Given the description of an element on the screen output the (x, y) to click on. 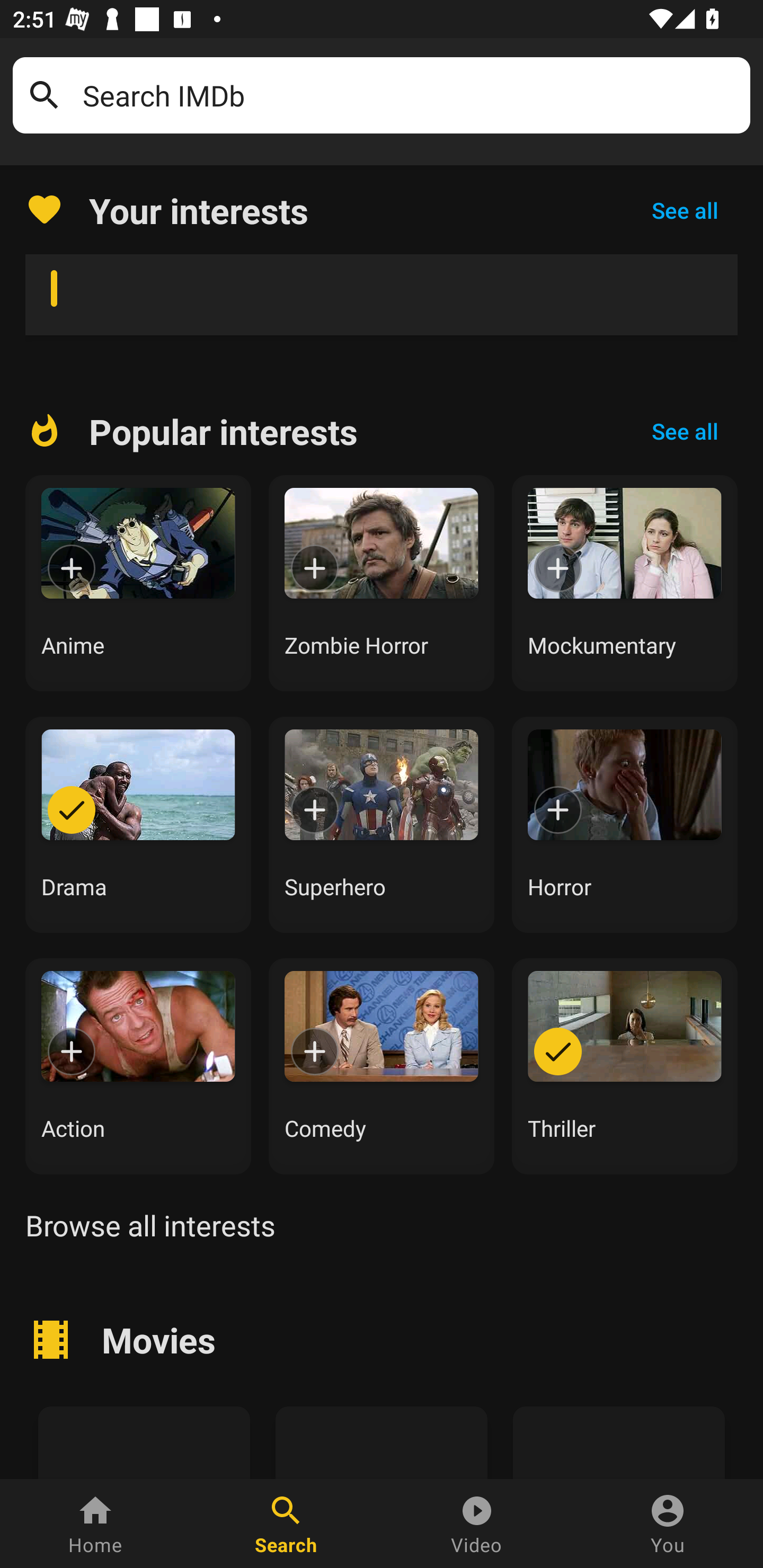
Search IMDb (410, 95)
See all (684, 209)
See all (684, 430)
Anime (138, 583)
Zombie Horror (381, 583)
Mockumentary (624, 583)
Drama (138, 824)
Superhero (381, 824)
Horror (624, 824)
Action (138, 1065)
Comedy (381, 1065)
Thriller (624, 1065)
Browse all interests (150, 1224)
Home (95, 1523)
Video (476, 1523)
You (667, 1523)
